Given the description of an element on the screen output the (x, y) to click on. 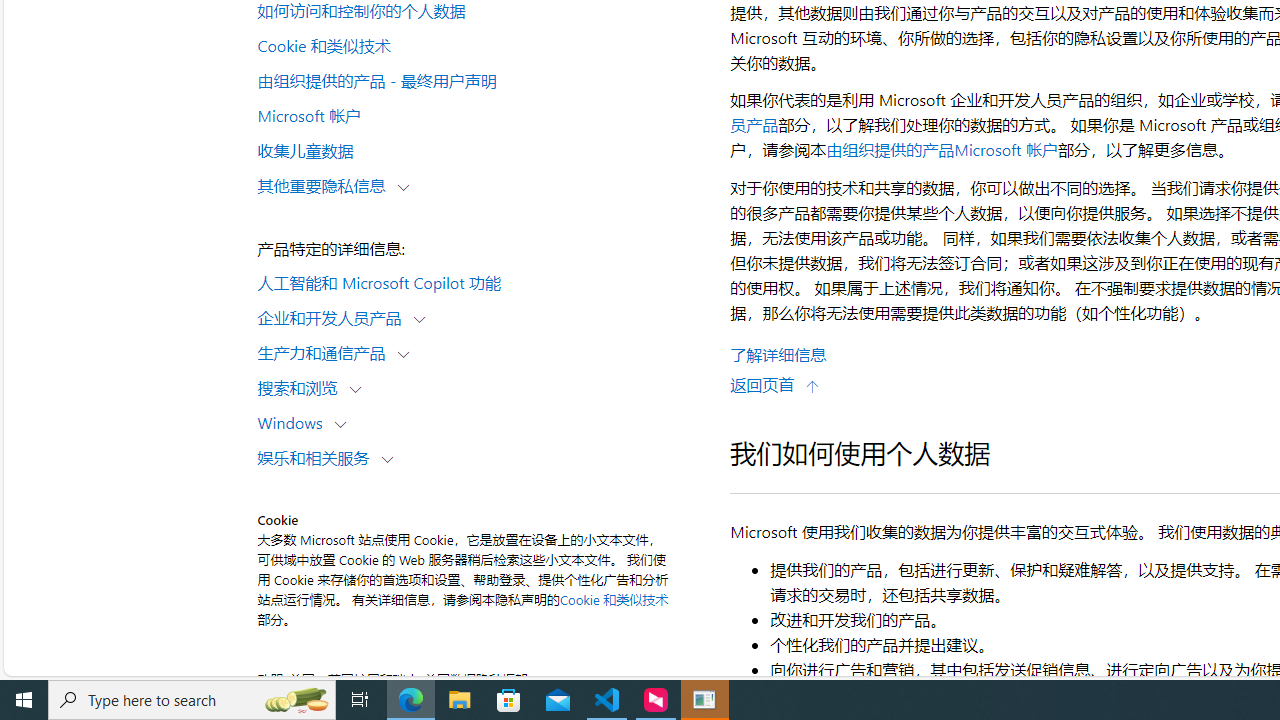
Windows (294, 421)
